Given the description of an element on the screen output the (x, y) to click on. 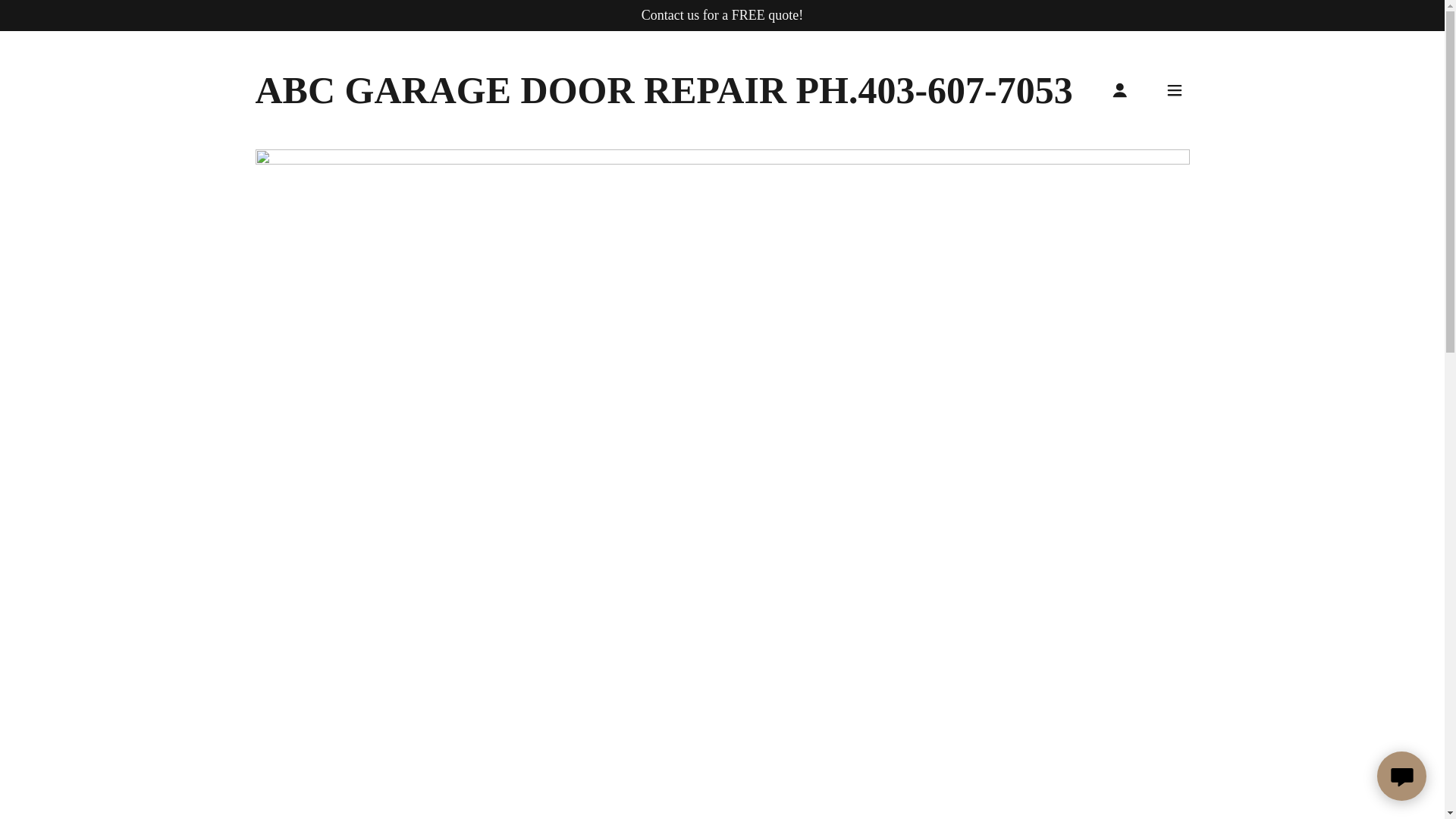
ABC GARAGE DOOR REPAIR PH.403-607-7053 Element type: text (663, 98)
